Given the description of an element on the screen output the (x, y) to click on. 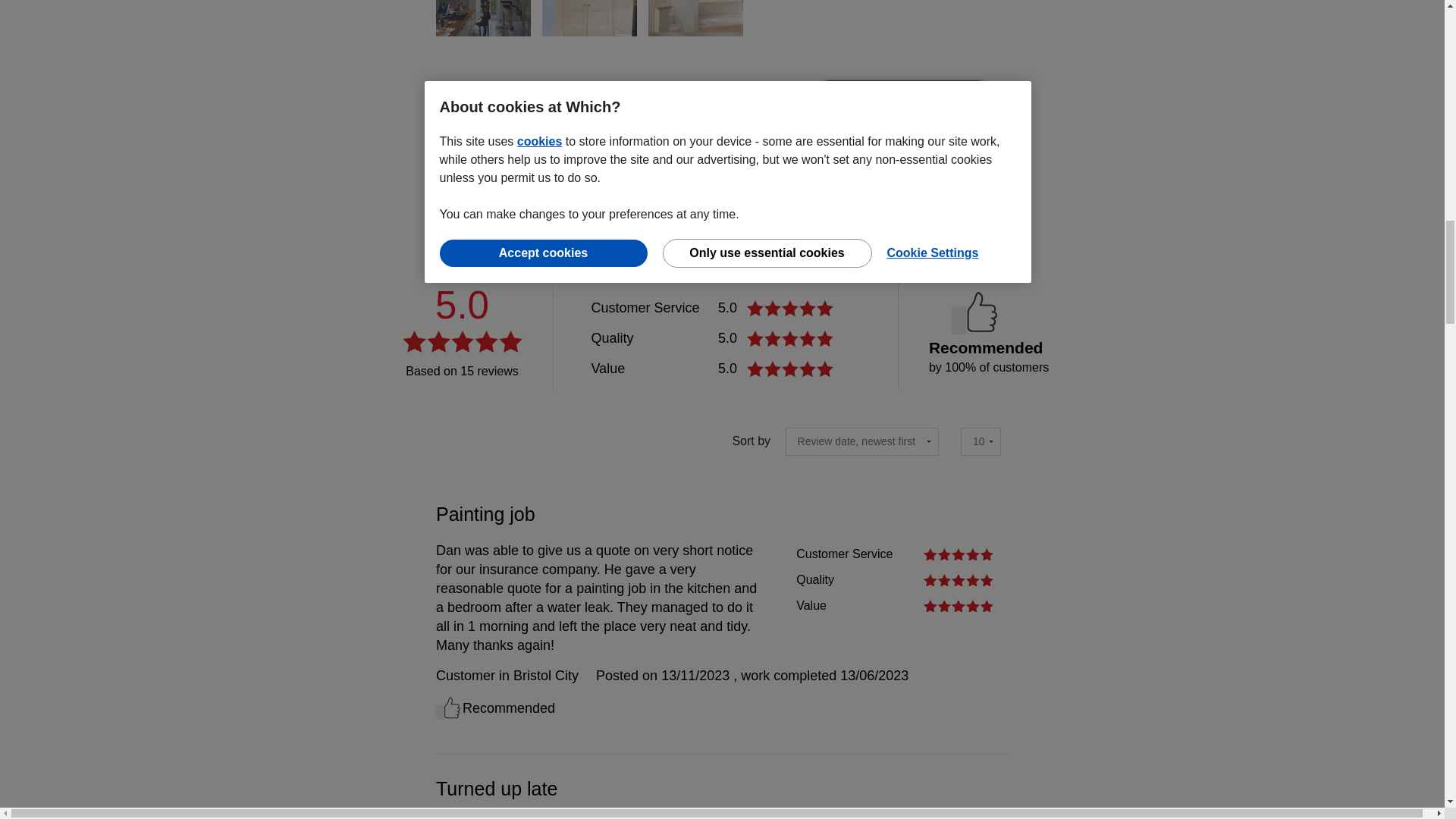
5 (957, 605)
5.0 (791, 337)
5.0 (791, 368)
5 (957, 553)
5 (957, 580)
5.0 (791, 307)
